Given the description of an element on the screen output the (x, y) to click on. 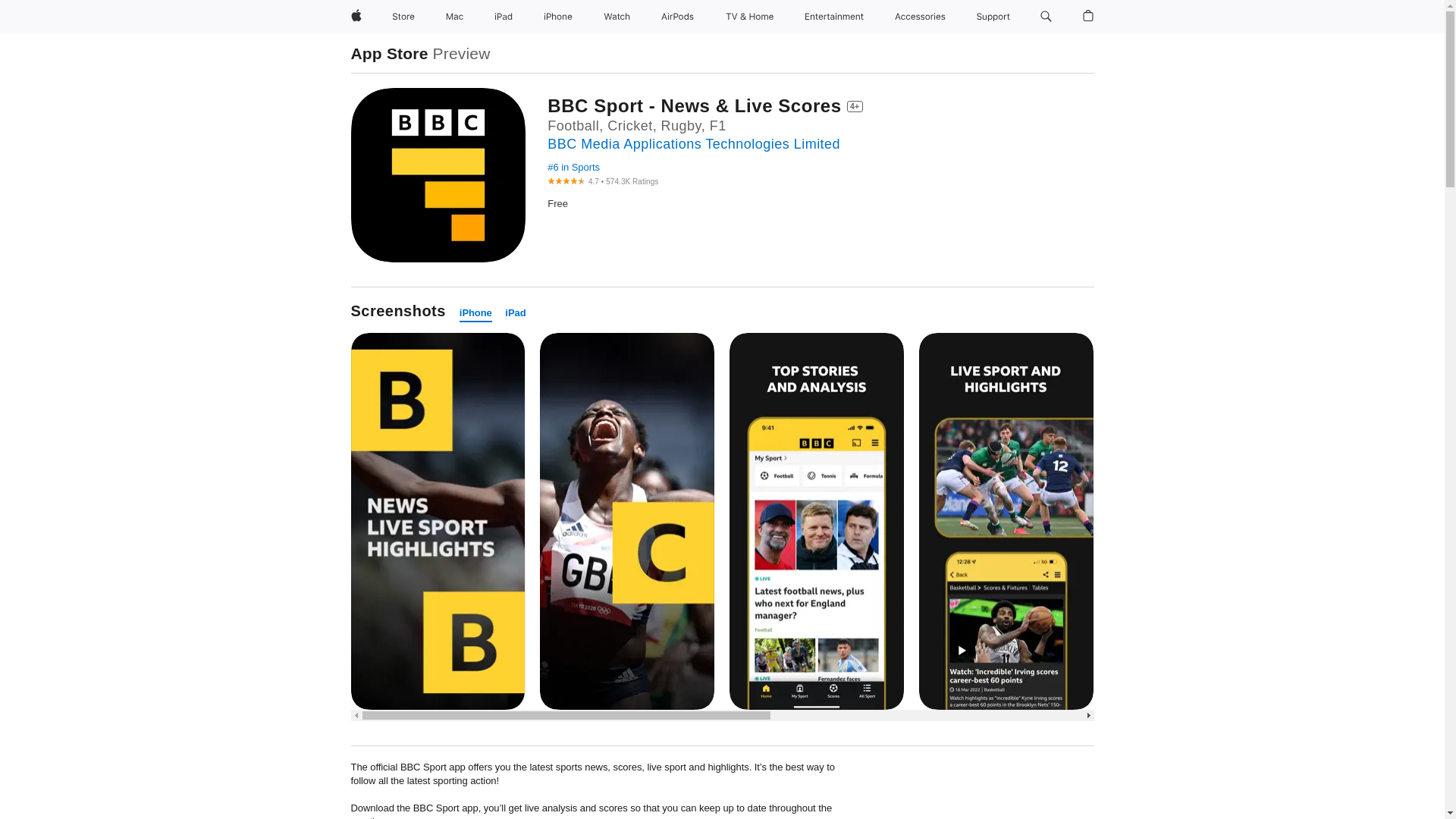
iPad (502, 16)
iPad (515, 313)
iPhone  (557, 16)
Store (402, 16)
iPhone (476, 313)
Accessories (920, 16)
AirPods (677, 16)
BBC Media Applications Technologies Limited (693, 143)
Watch (616, 16)
App Store (389, 53)
Support (993, 16)
Entertainment (834, 16)
